Given the description of an element on the screen output the (x, y) to click on. 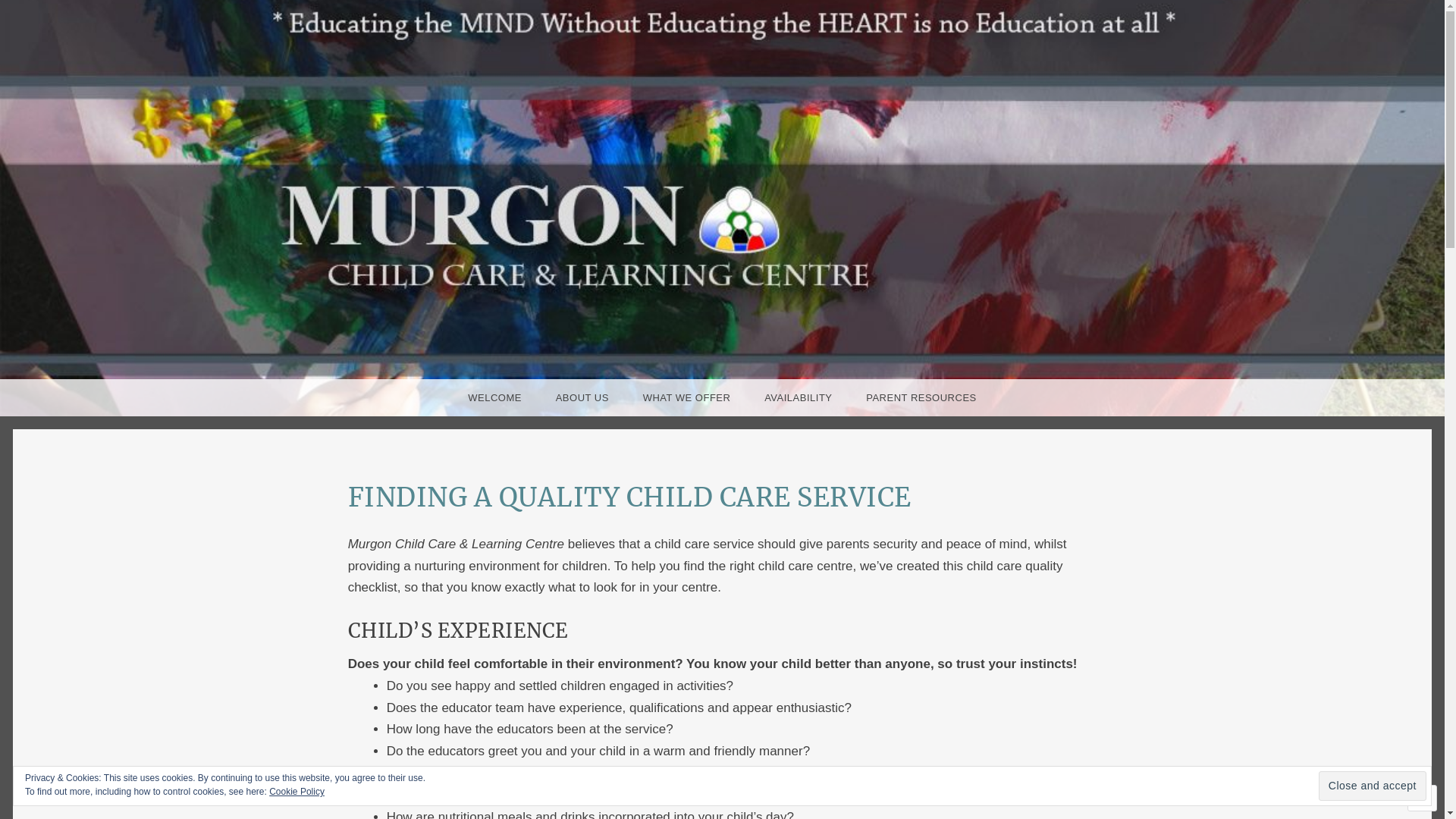
Cookie Policy Element type: text (296, 791)
Close and accept Element type: text (1372, 785)
WHAT WE OFFER Element type: text (686, 397)
SKIP TO CONTENT Element type: text (62, 397)
MURGON CHILDCARE & LEARNING CENTRE Element type: text (736, 490)
AVAILABILITY Element type: text (798, 397)
ABOUT US Element type: text (582, 397)
WELCOME Element type: text (494, 397)
PARENT RESOURCES Element type: text (920, 397)
